Given the description of an element on the screen output the (x, y) to click on. 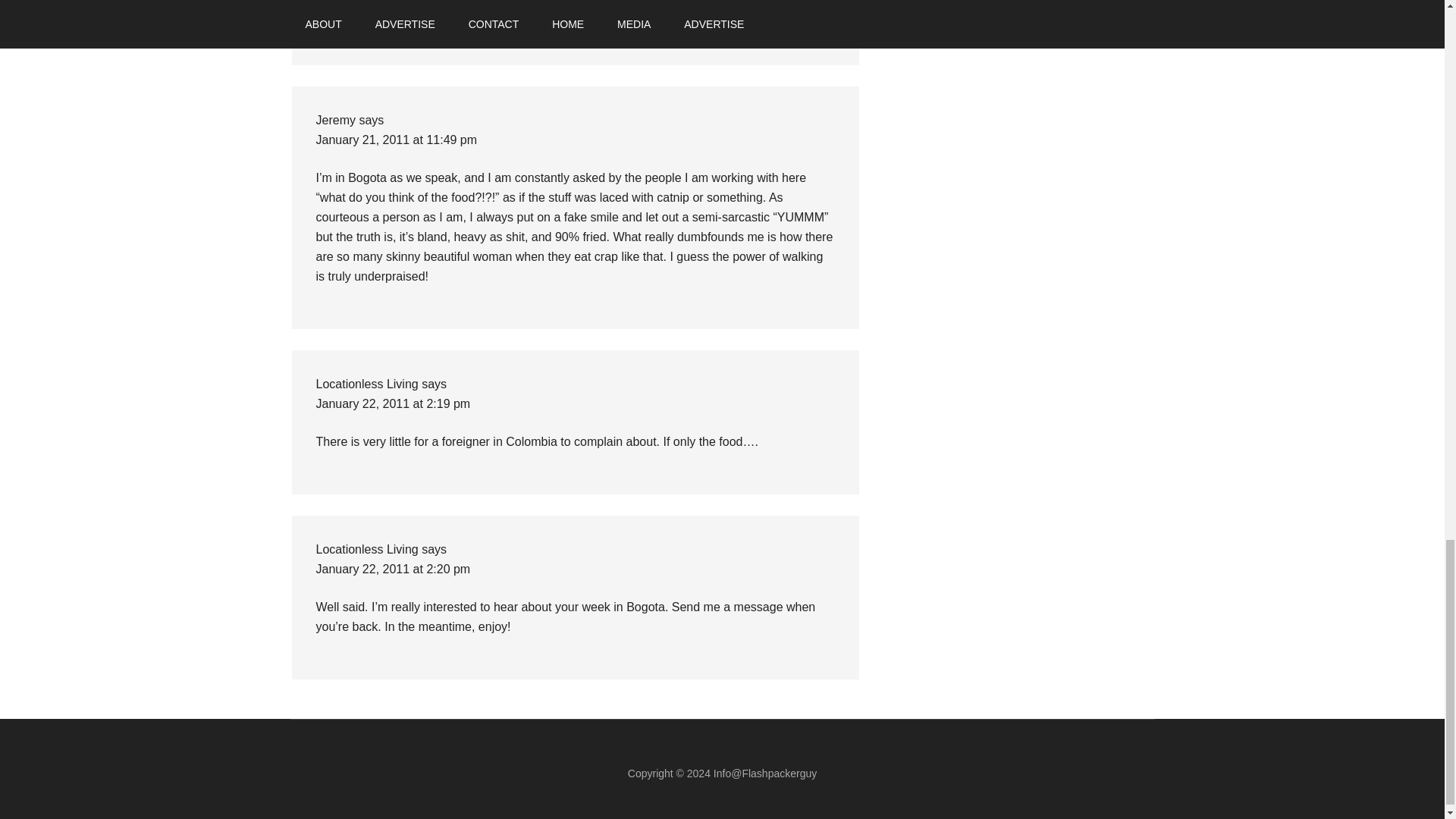
Locationless Living (366, 549)
January 22, 2011 at 2:19 pm (392, 403)
Locationless Living (366, 383)
January 21, 2011 at 11:49 pm (396, 139)
January 22, 2011 at 2:20 pm (392, 568)
